Given the description of an element on the screen output the (x, y) to click on. 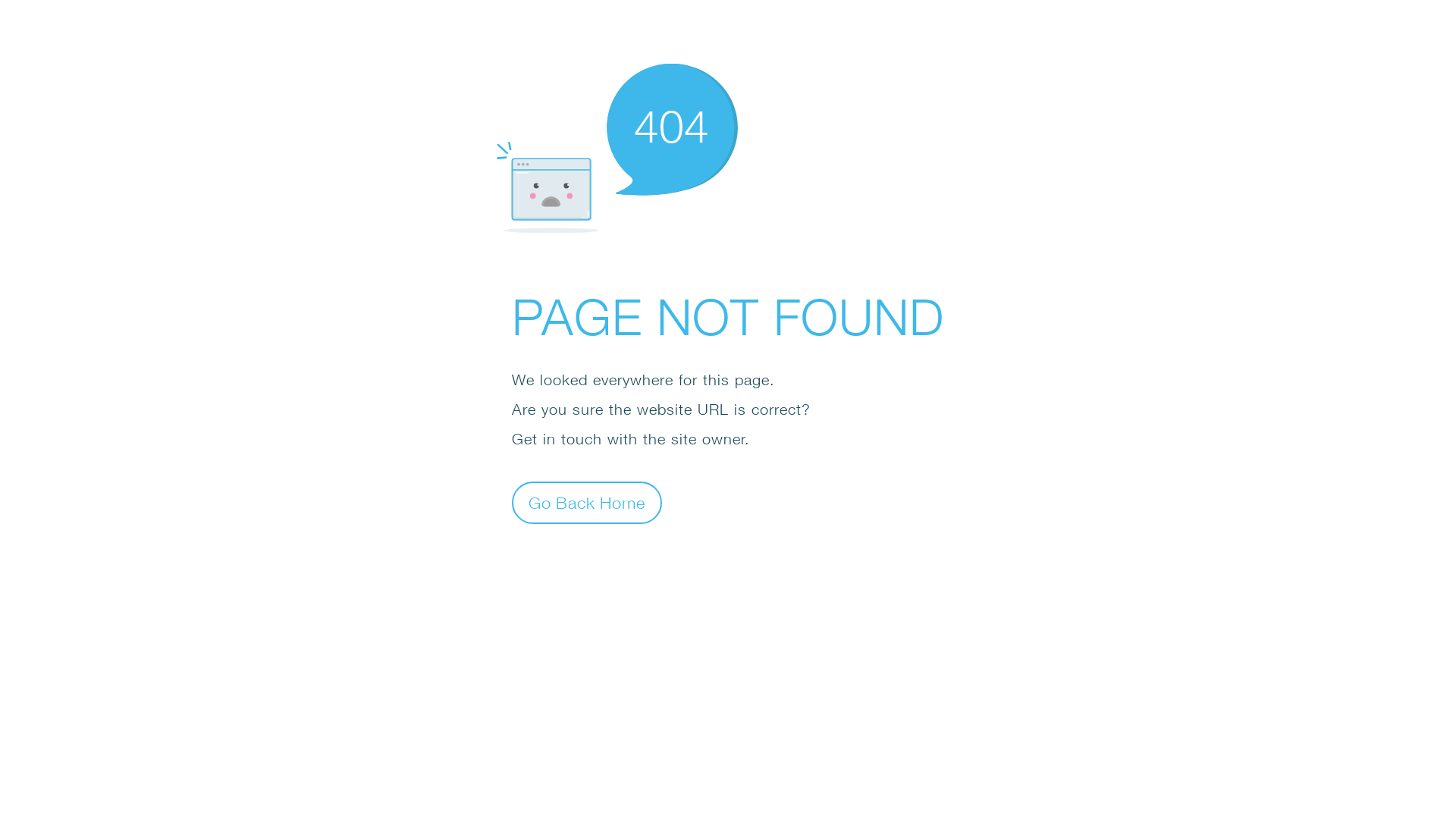
Go Back Home Element type: text (586, 502)
